Given the description of an element on the screen output the (x, y) to click on. 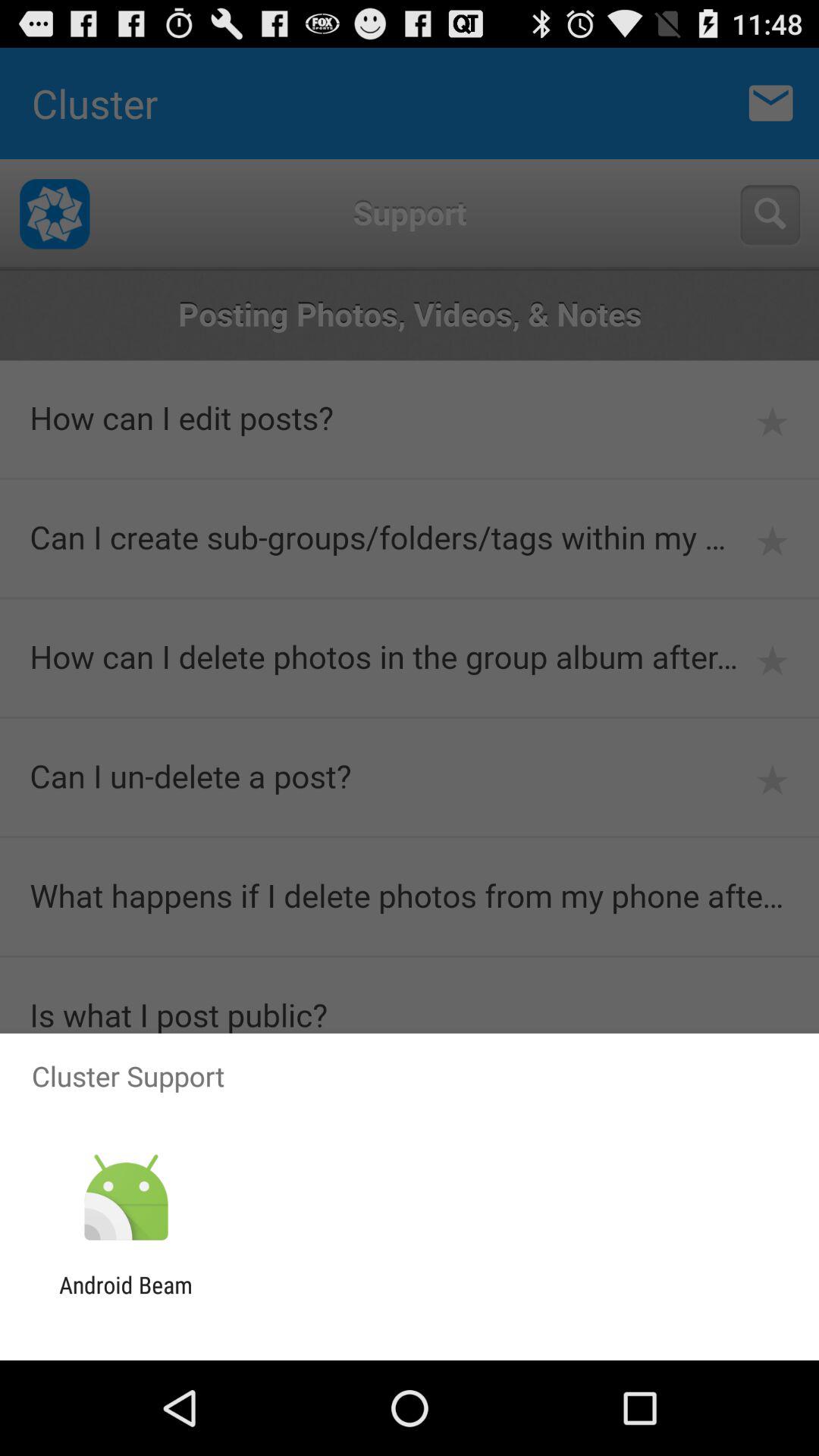
click icon above android beam app (126, 1198)
